Given the description of an element on the screen output the (x, y) to click on. 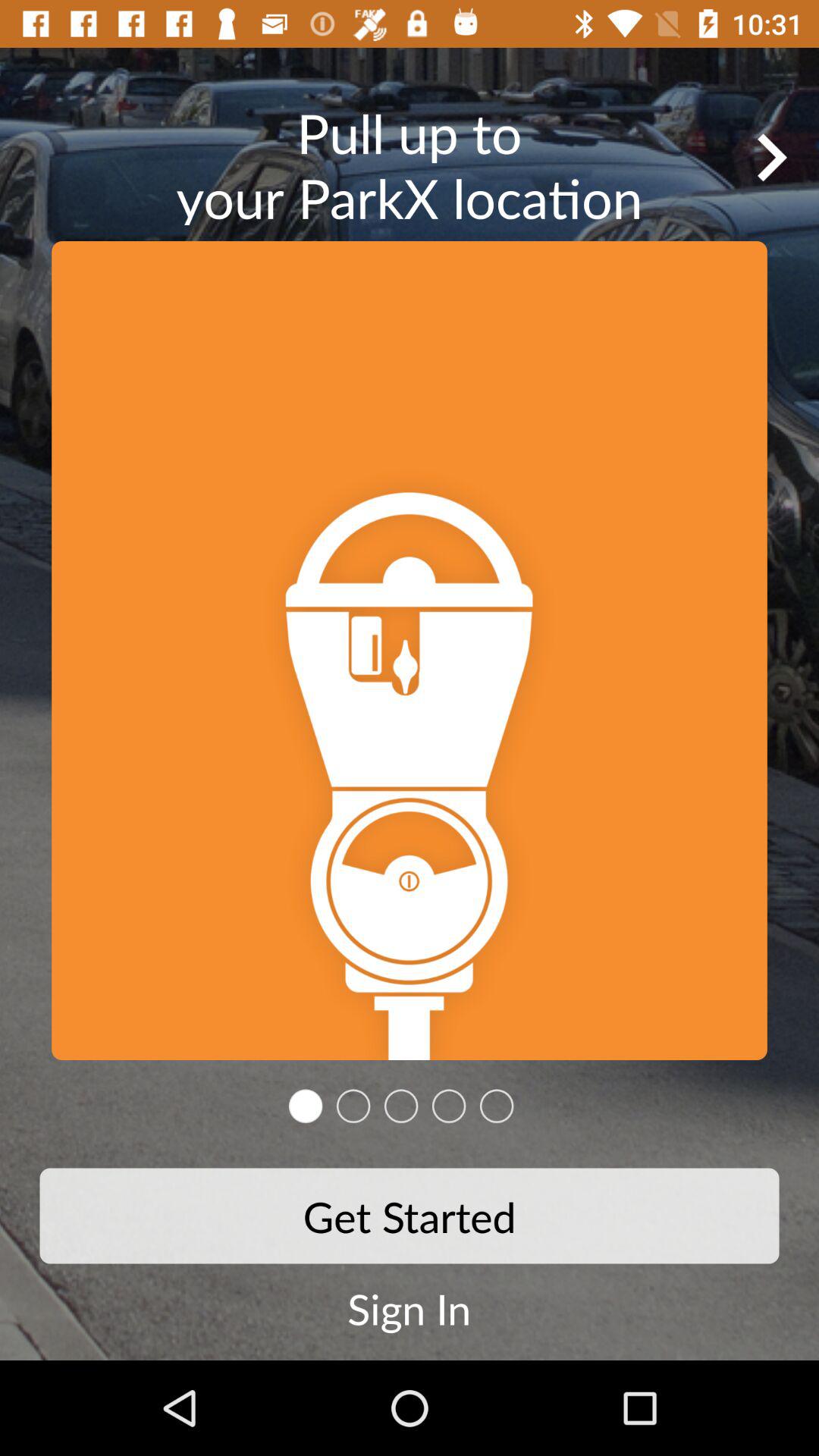
go previous (771, 157)
